Given the description of an element on the screen output the (x, y) to click on. 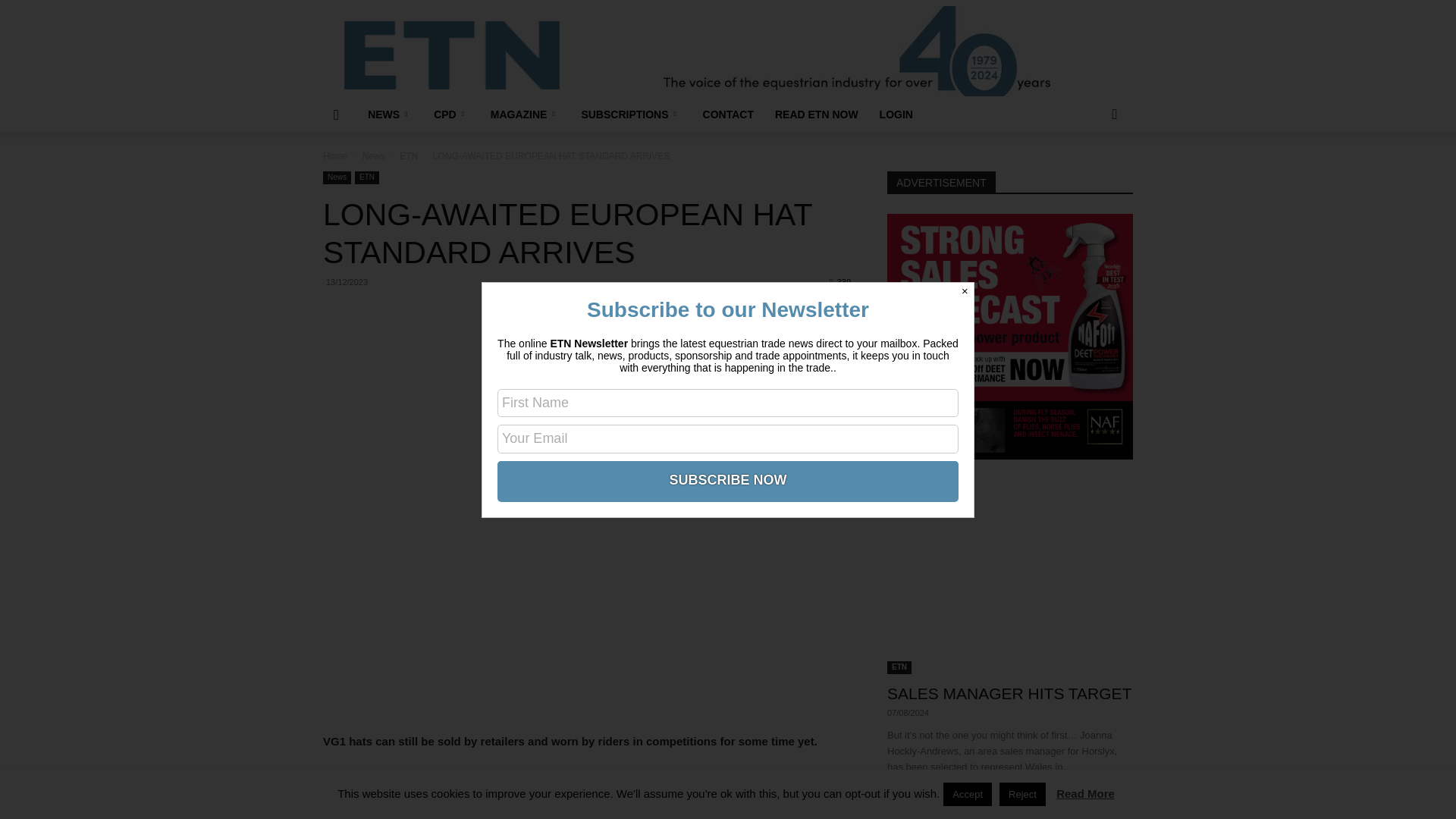
EQUESTRIAN TRADE NEWS (451, 55)
SUBSCRIBE NOW (727, 479)
NEWS (389, 114)
